Given the description of an element on the screen output the (x, y) to click on. 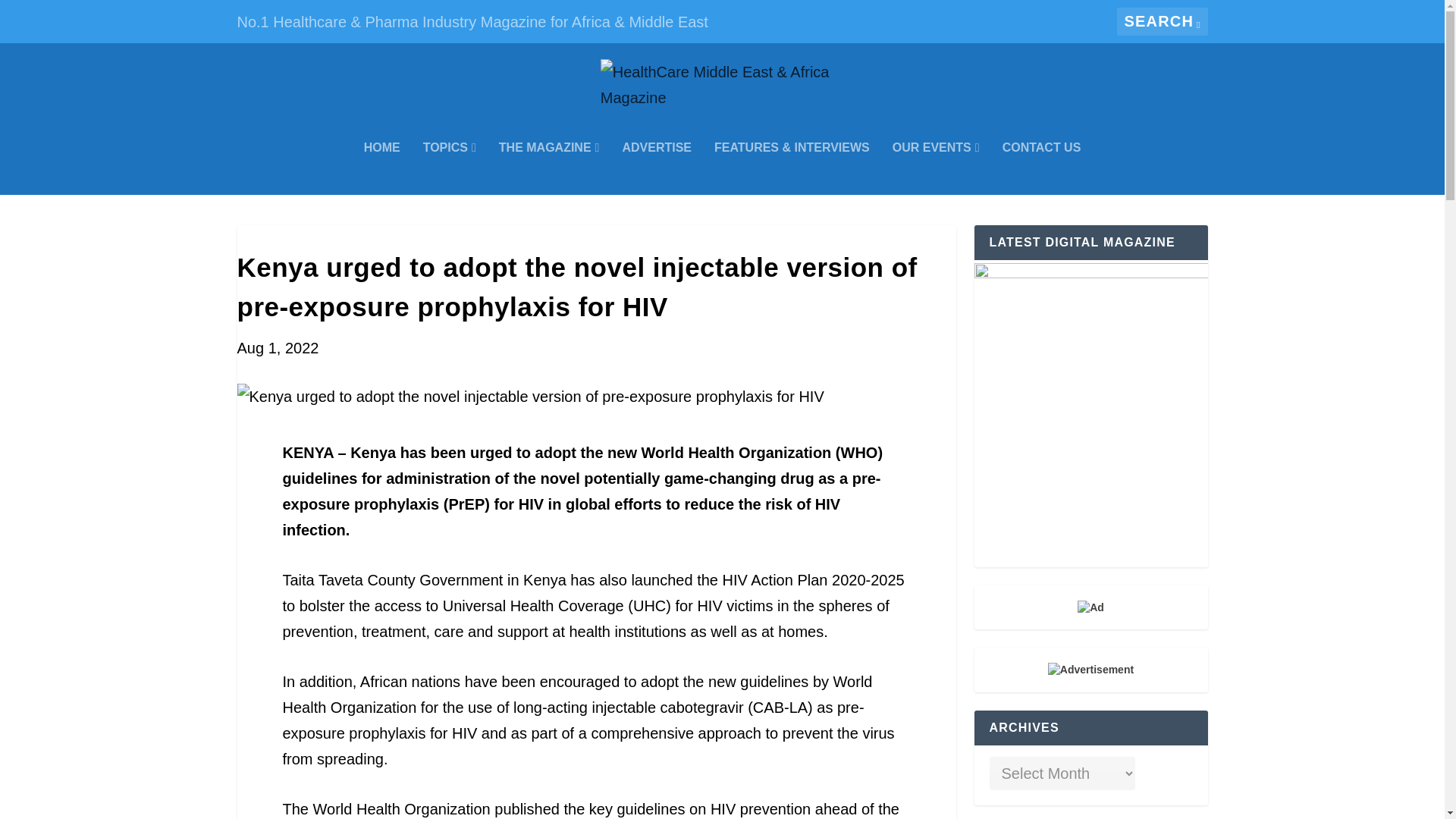
THE MAGAZINE (549, 167)
OUR EVENTS (935, 167)
TOPICS (449, 167)
ADVERTISE (656, 167)
CONTACT US (1042, 167)
OUR EVENTS (935, 167)
Search for: (1161, 21)
